Given the description of an element on the screen output the (x, y) to click on. 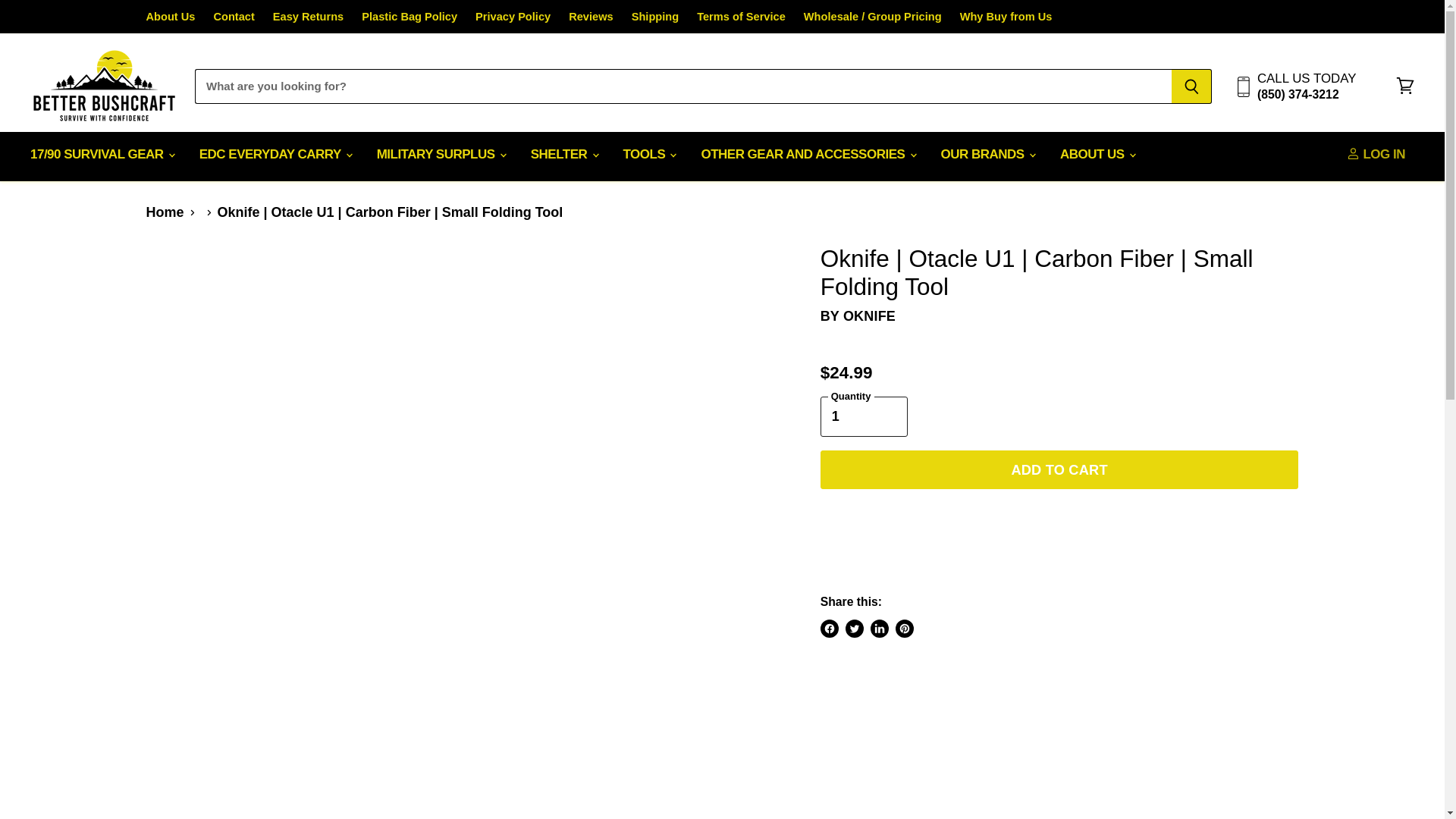
Plastic Bag Policy (409, 16)
Terms of Service (741, 16)
1 (864, 416)
Shipping (654, 16)
ACCOUNT ICON (1352, 153)
Privacy Policy (513, 16)
Why Buy from Us (1005, 16)
Reviews (590, 16)
EDC EVERYDAY CARRY (274, 154)
Contact (232, 16)
About Us (170, 16)
Easy Returns (308, 16)
View cart (1405, 86)
